Given the description of an element on the screen output the (x, y) to click on. 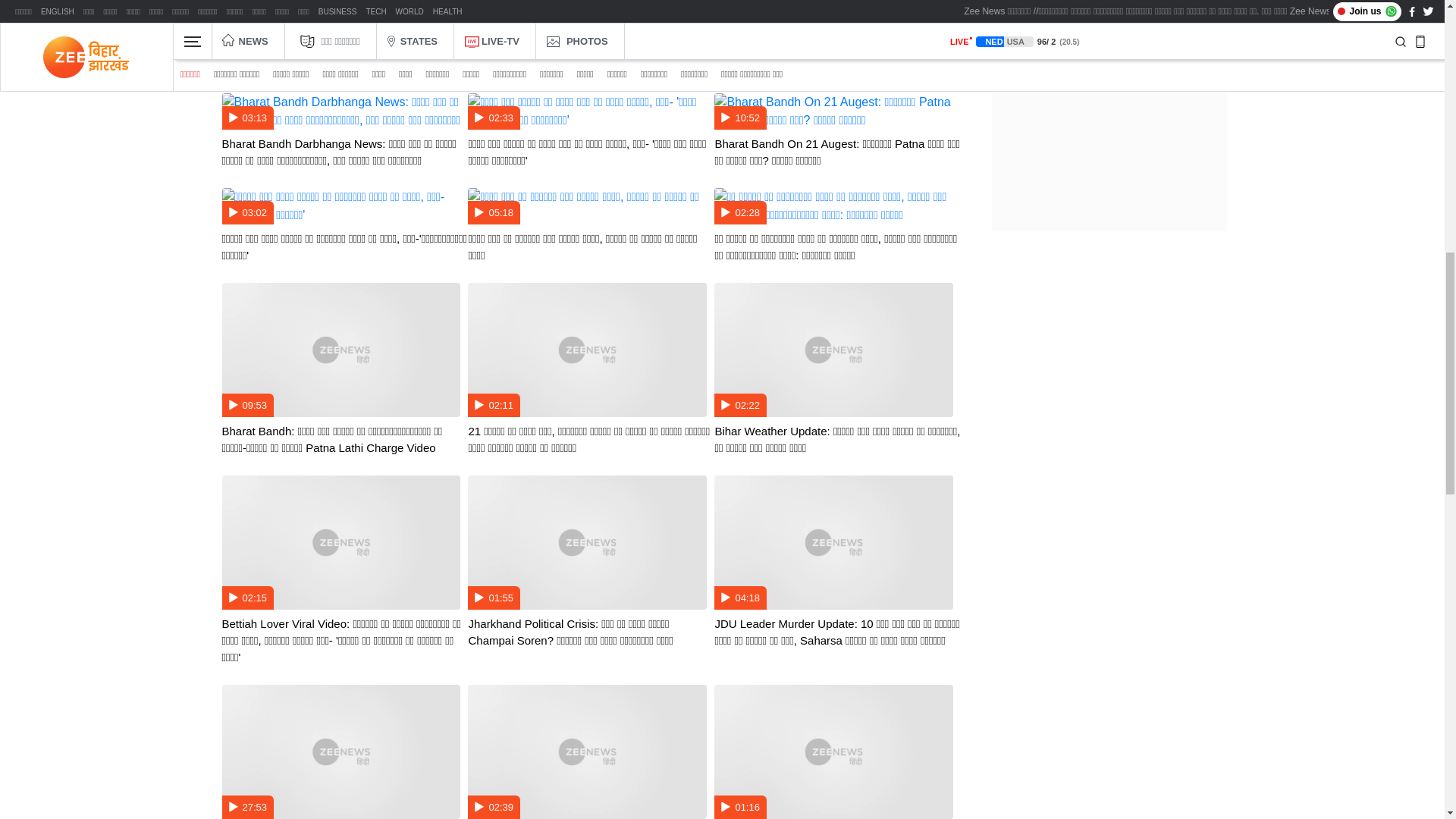
Share on facebook (254, 9)
Share on twitter (282, 9)
Share on Linkedin (310, 9)
Share on whatsapp (227, 9)
